Given the description of an element on the screen output the (x, y) to click on. 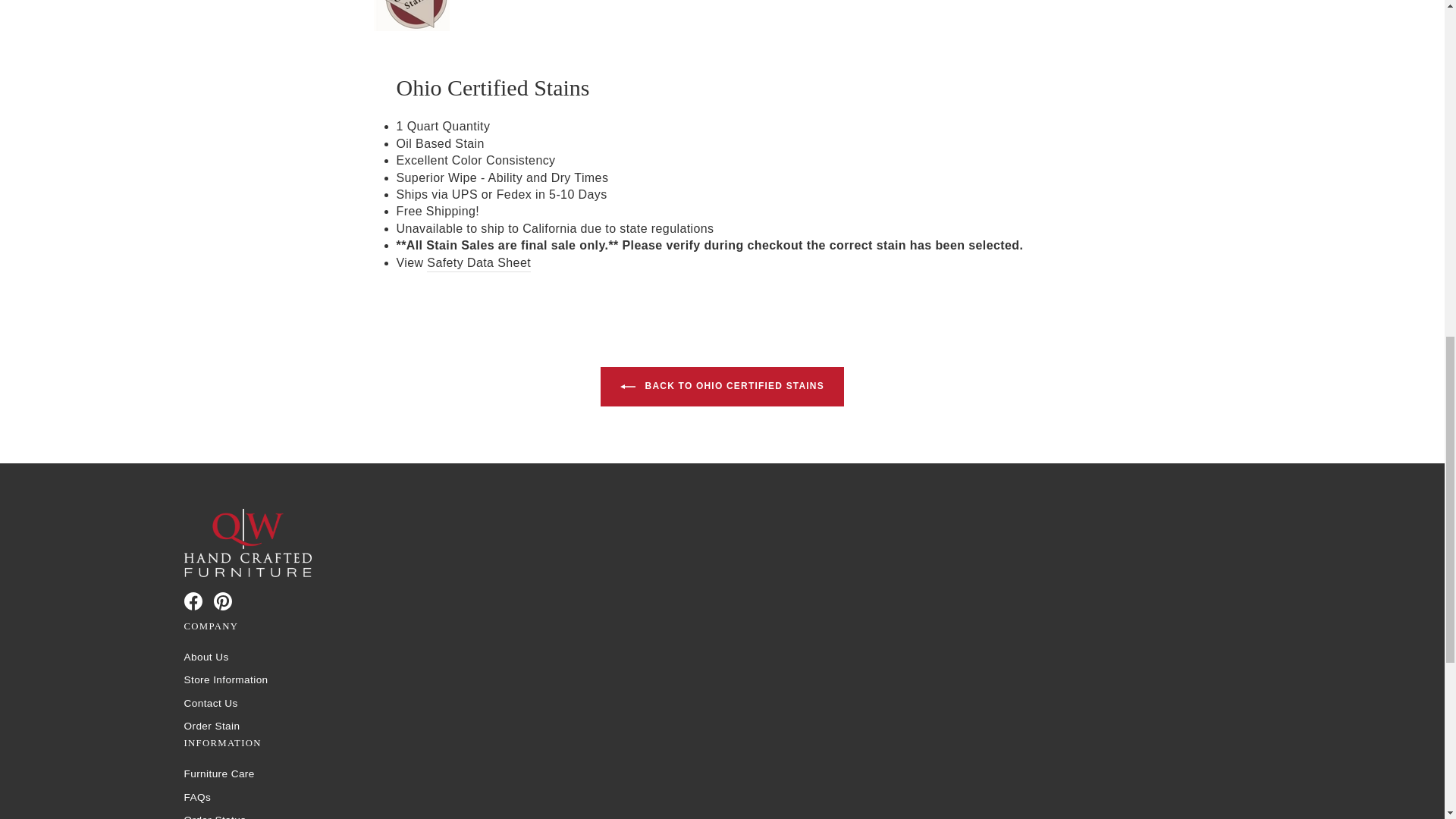
ICON-LEFT-ARROW (627, 386)
Quality Woods Furniture on Facebook (192, 601)
Quality Woods Furniture on Pinterest (222, 601)
